Given the description of an element on the screen output the (x, y) to click on. 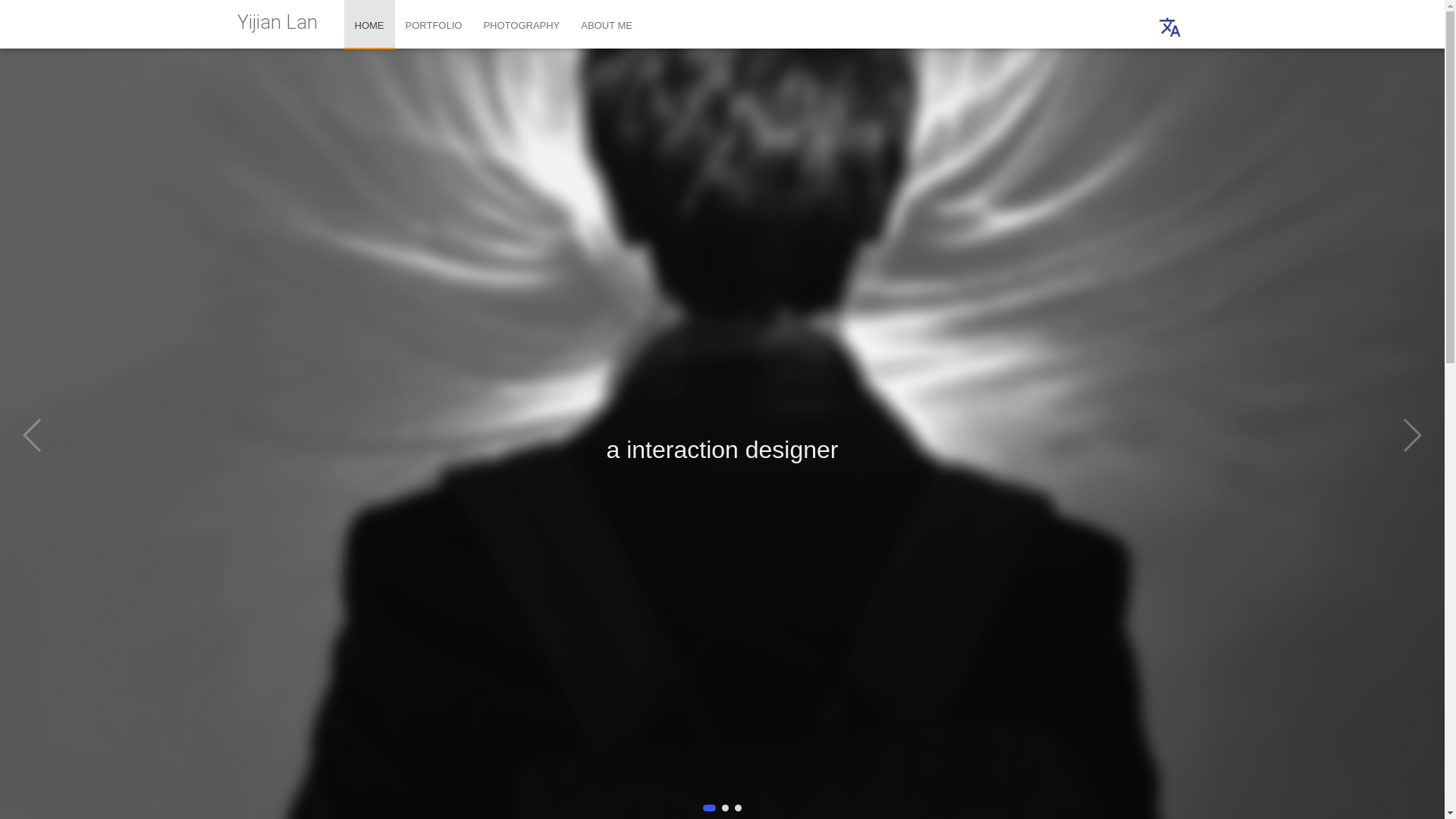
HOME Element type: text (369, 24)
Yijian Lan Element type: text (276, 22)
PORTFOLIO Element type: text (433, 23)
ABOUT ME Element type: text (606, 23)
PHOTOGRAPHY Element type: text (521, 23)
MY INSTAGRAM Element type: text (414, 509)
translate Element type: text (1169, 27)
